Given the description of an element on the screen output the (x, y) to click on. 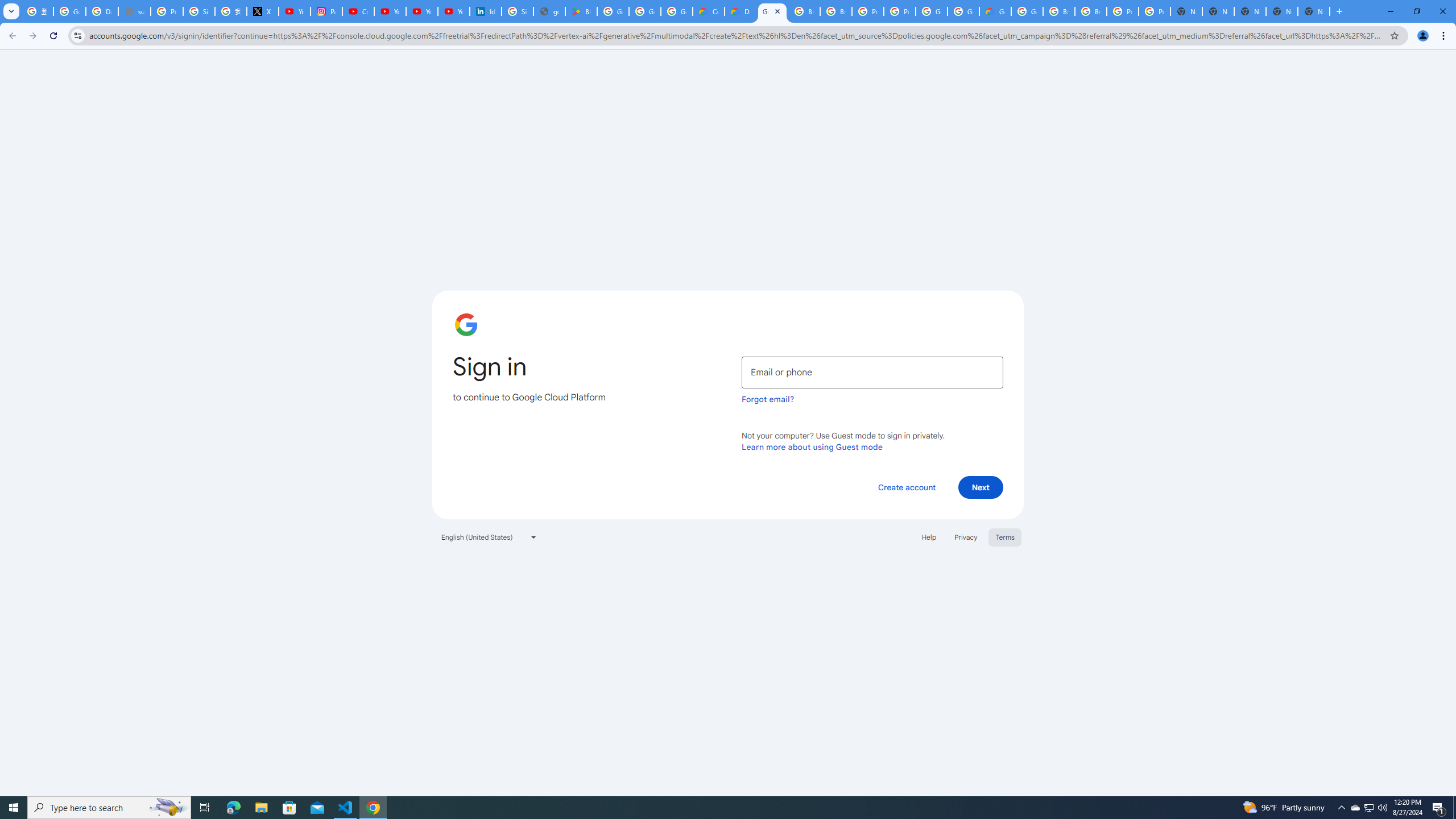
Learn more about using Guest mode (812, 446)
English (United States) (489, 536)
Google Cloud Platform (931, 11)
Sign in - Google Accounts (198, 11)
New Tab (1313, 11)
X (262, 11)
Google Cloud Platform (1027, 11)
Privacy Help Center - Policies Help (166, 11)
